Given the description of an element on the screen output the (x, y) to click on. 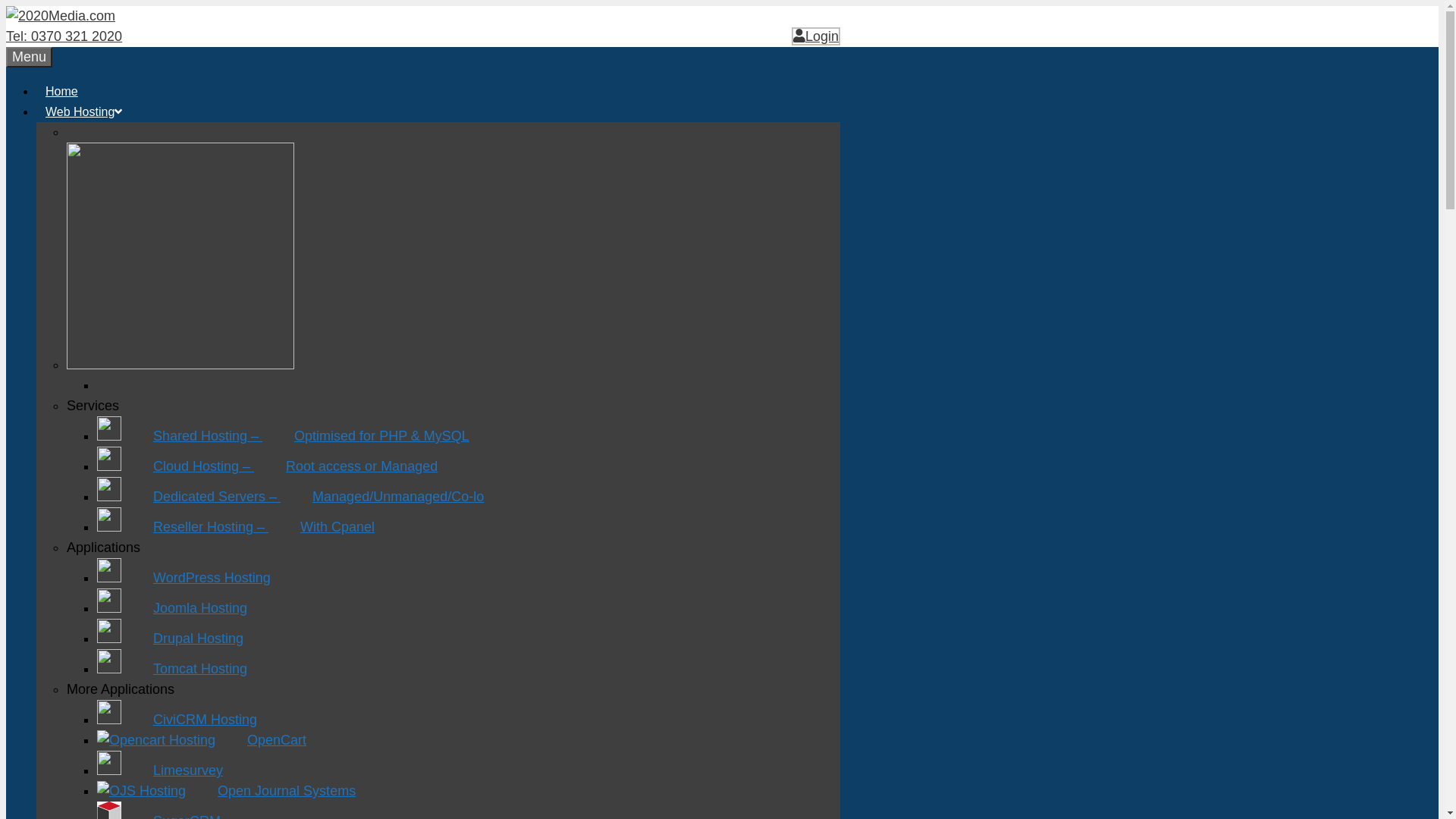
Home Element type: text (61, 90)
OpenCart Element type: text (201, 739)
Menu Element type: text (29, 57)
Joomla Hosting Element type: text (172, 607)
2020Media.com Element type: hover (60, 16)
Drupal Hosting Element type: text (170, 638)
CiviCRM Hosting Element type: text (177, 719)
WordPress Hosting Element type: text (183, 577)
Skip to content Element type: text (5, 5)
2020Media.com Element type: hover (60, 15)
Tomcat Hosting Element type: text (172, 668)
Open Journal Systems Element type: text (226, 790)
Login Element type: text (815, 36)
Limesurvey Element type: text (159, 770)
Tel: 0370 321 2020 Element type: text (64, 35)
Web Hosting Element type: text (89, 111)
